Given the description of an element on the screen output the (x, y) to click on. 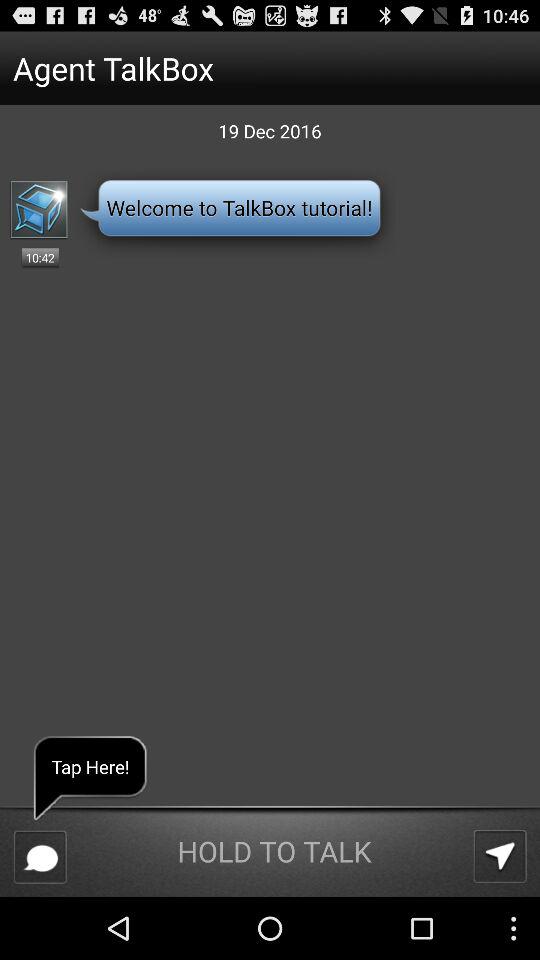
launch the app below tap here! icon (40, 856)
